Given the description of an element on the screen output the (x, y) to click on. 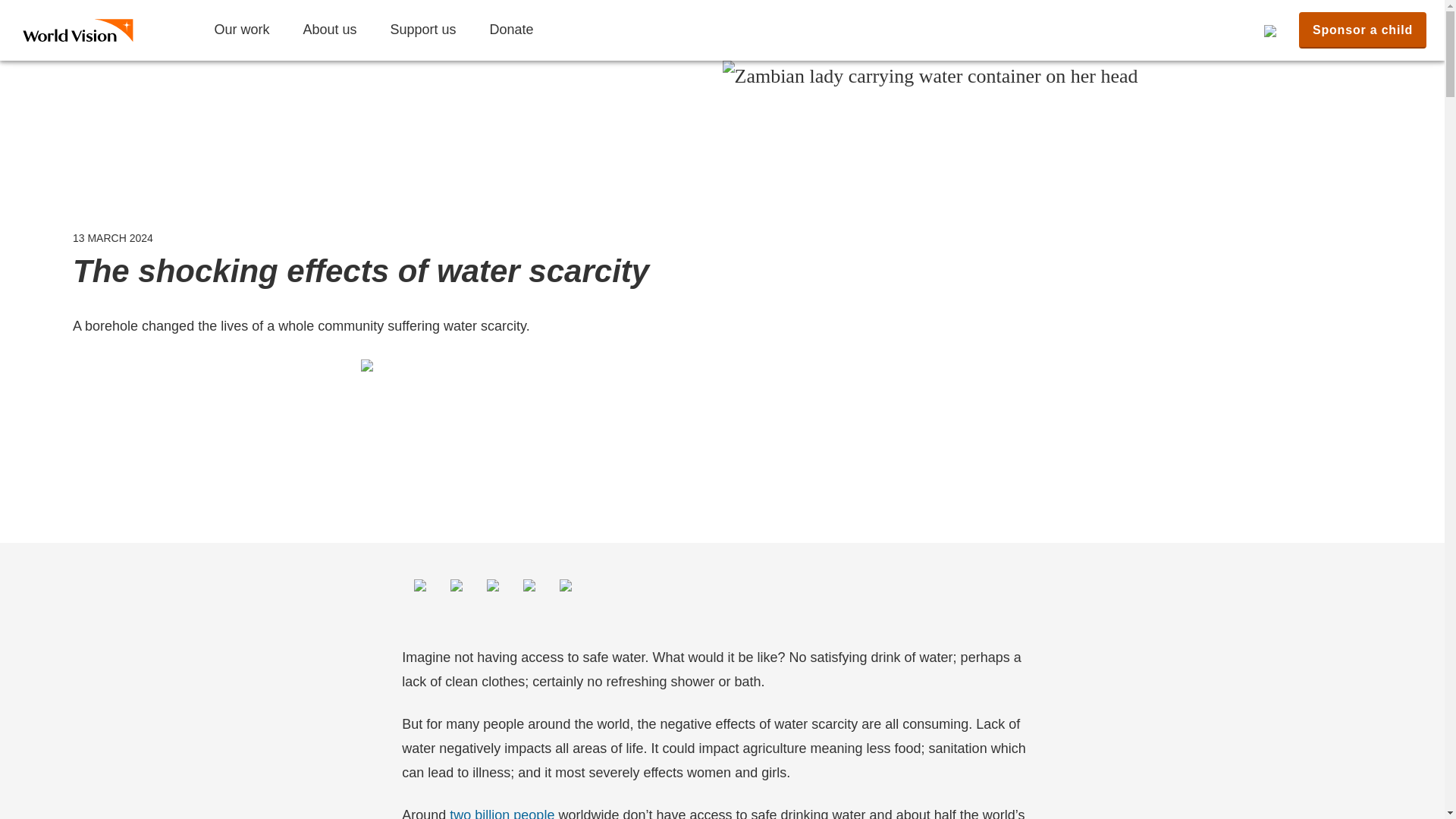
About us (329, 30)
Support us (421, 30)
Our work (241, 30)
